Given the description of an element on the screen output the (x, y) to click on. 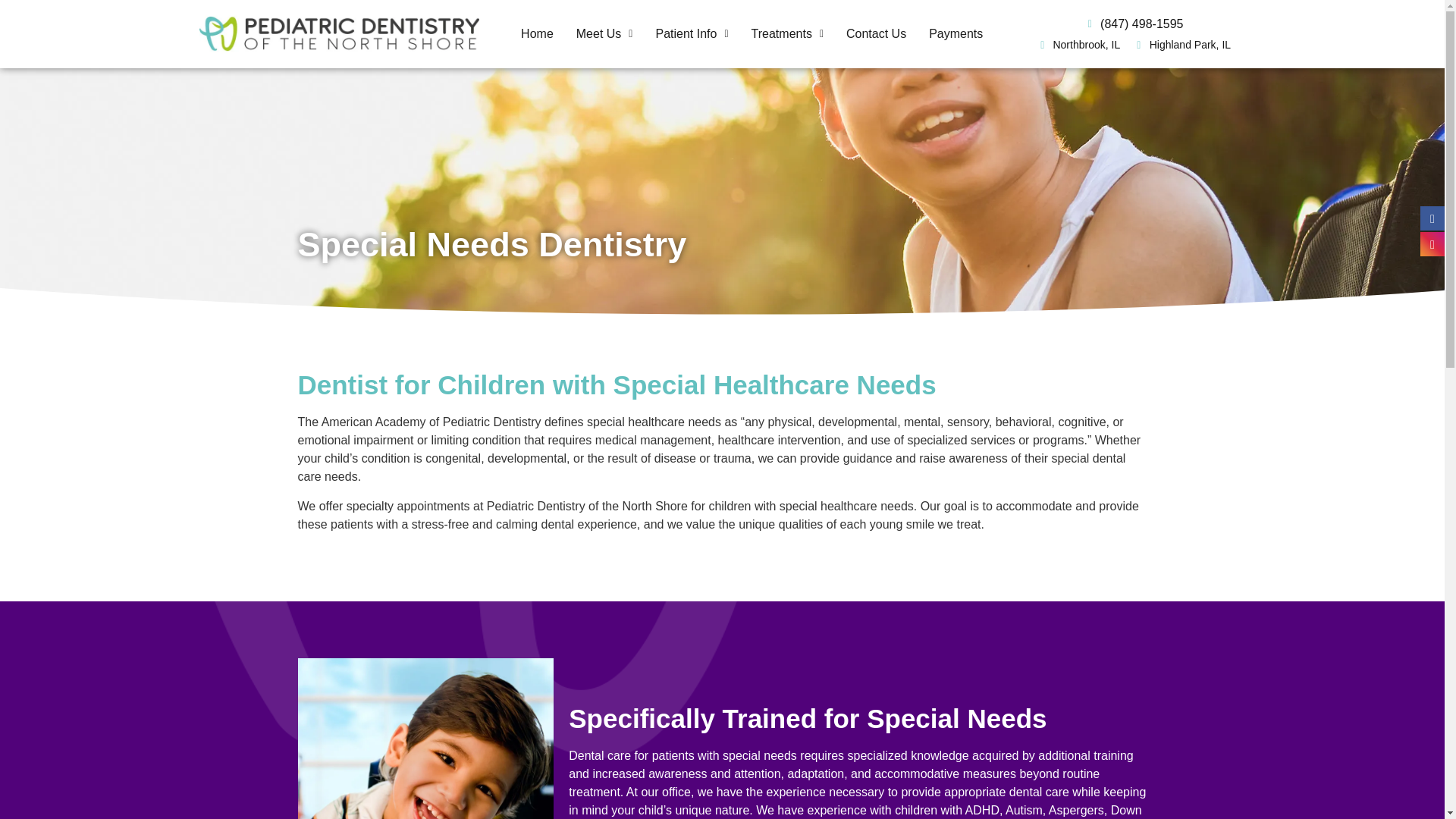
Northbrook, IL (1077, 44)
Highland Park, IL (1181, 44)
Treatments (786, 33)
Meet Us (604, 33)
Payments (955, 33)
Home (536, 33)
Patient Info (691, 33)
Contact Us (875, 33)
